Given the description of an element on the screen output the (x, y) to click on. 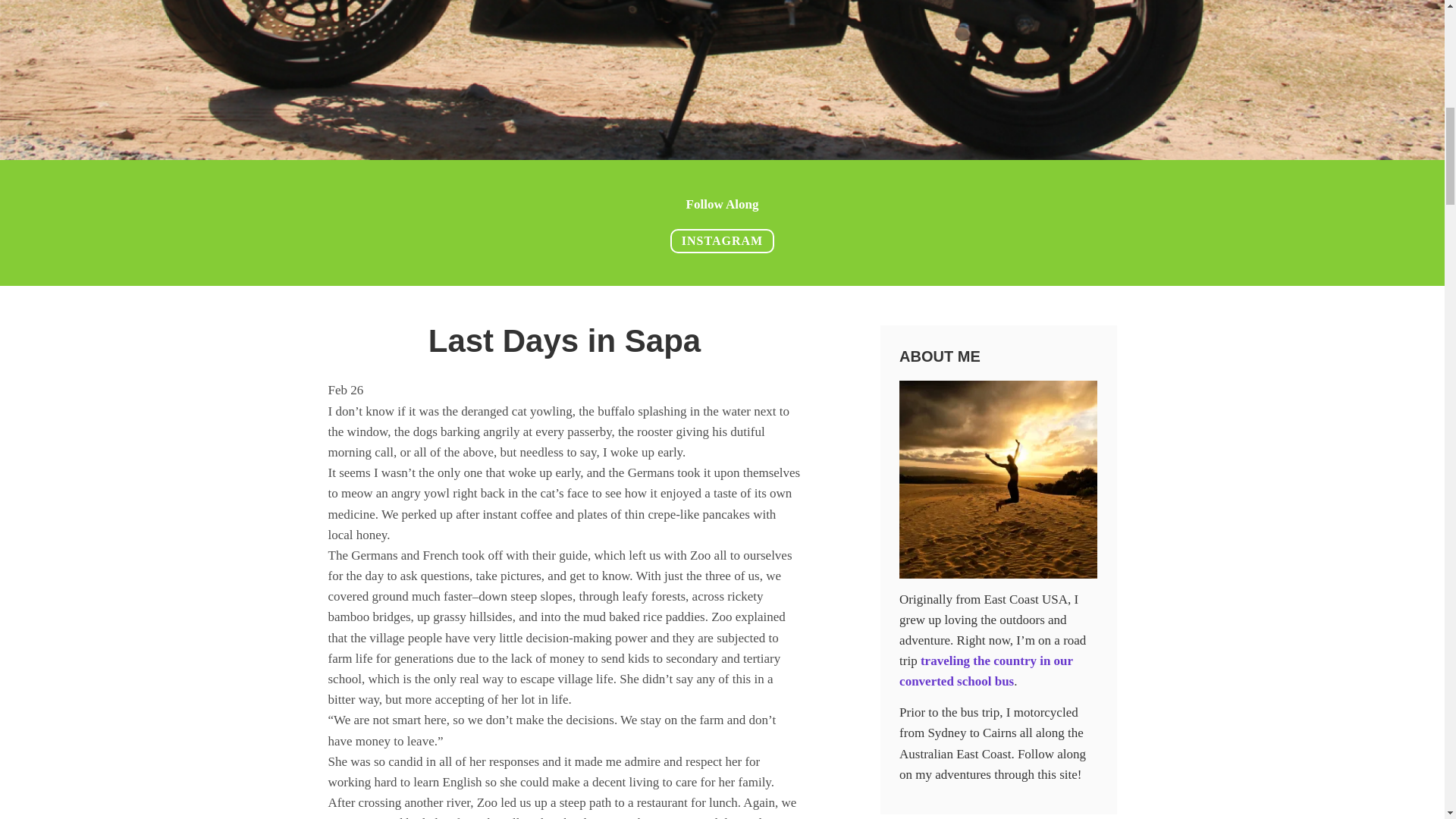
INSTAGRAM (721, 241)
traveling the country in our converted school bus (986, 670)
